Given the description of an element on the screen output the (x, y) to click on. 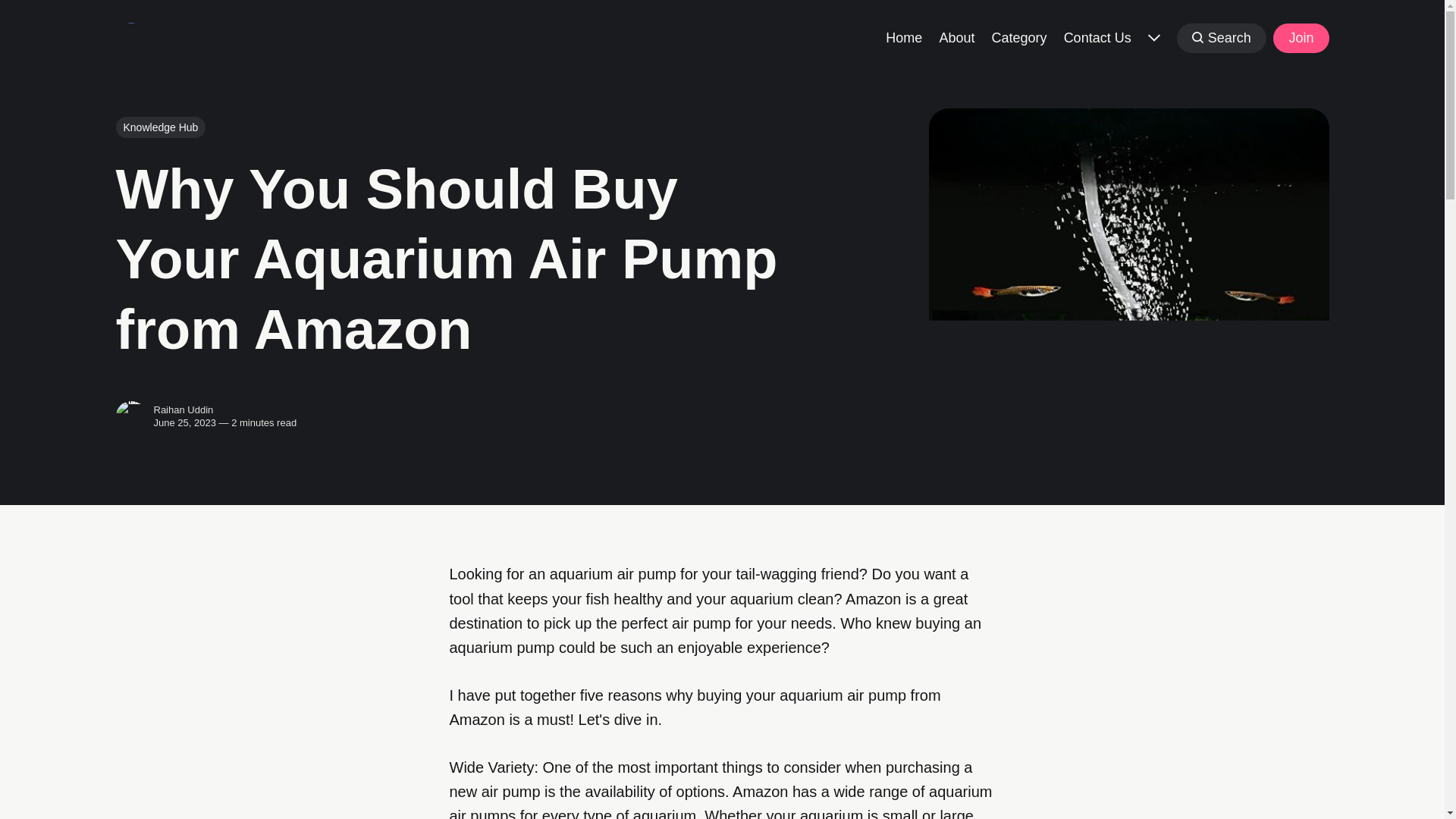
Home (903, 37)
Knowledge Hub (160, 127)
Join (1299, 37)
Category (1018, 37)
Raihan Uddin (130, 416)
About (956, 37)
Raihan Uddin (182, 409)
Contact Us (1097, 37)
